Given the description of an element on the screen output the (x, y) to click on. 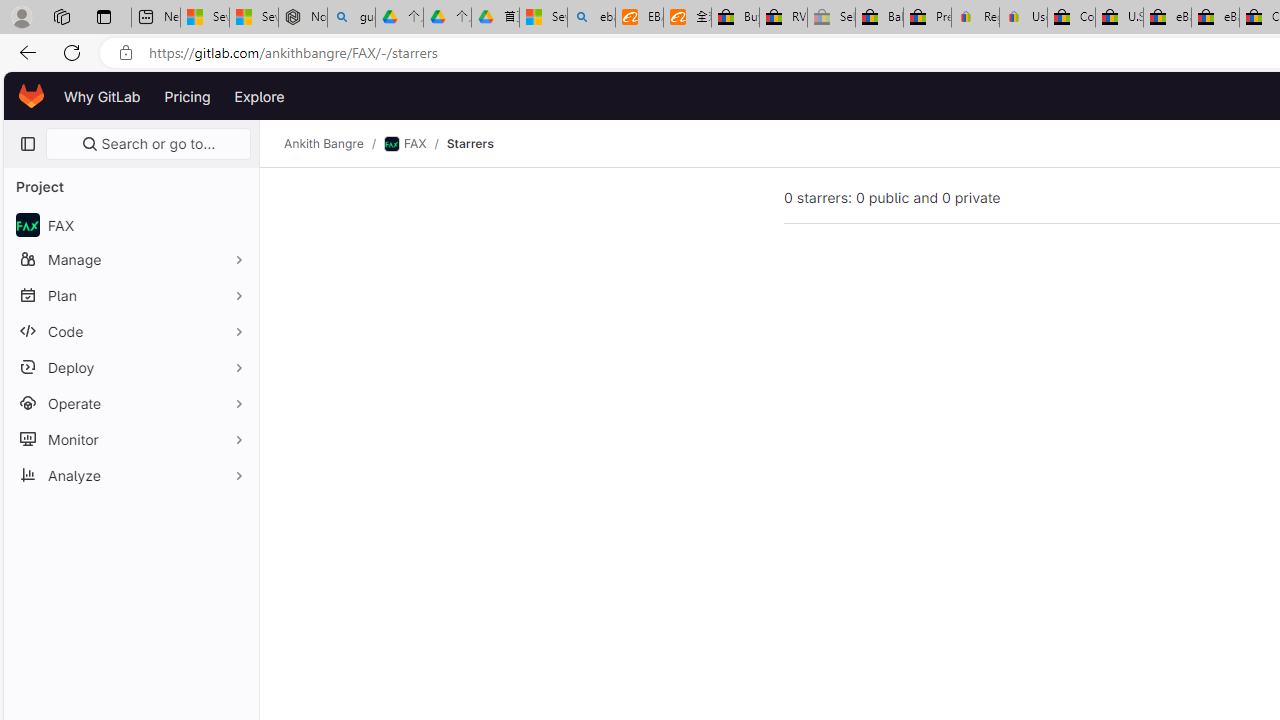
FAX (130, 224)
Explore (259, 95)
Code (130, 331)
ebay - Search (591, 17)
Sell worldwide with eBay - Sleeping (831, 17)
Homepage (31, 95)
Pricing (187, 95)
Operate (130, 403)
Tab actions menu (104, 16)
FAX/ (414, 143)
Ankith Bangre (323, 143)
Press Room - eBay Inc. (927, 17)
Starrers (469, 143)
